Given the description of an element on the screen output the (x, y) to click on. 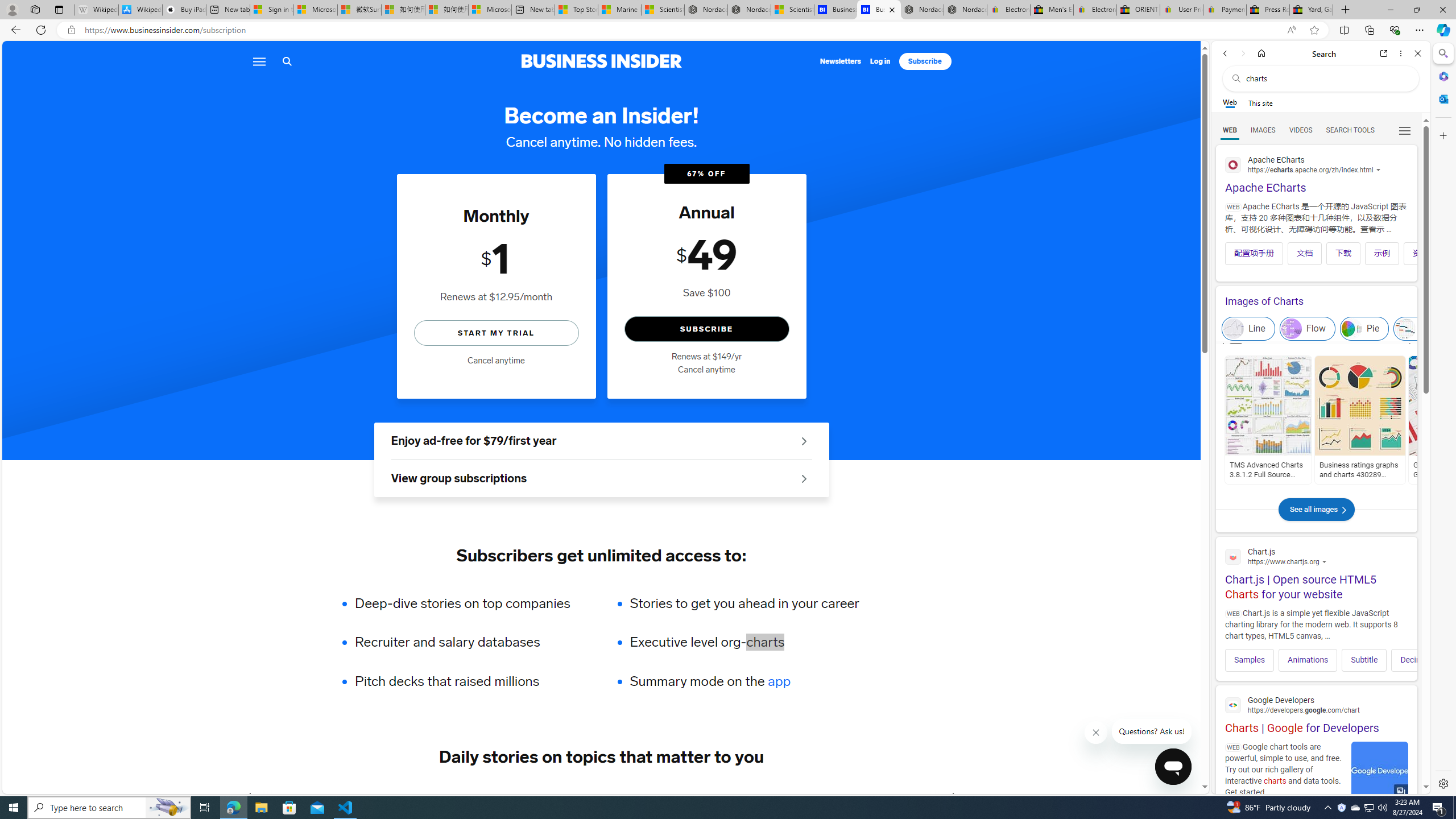
START MY TRIAL (496, 332)
Preferences (1403, 129)
Stories to get you ahead in your career (743, 602)
EXECUTIVE LIFESTYLE (788, 796)
Open link in new tab (1383, 53)
Google Developers (1315, 704)
Class: sc-1k07fow-1 cbnSms (1173, 766)
PERSONAL FINANCE (577, 796)
Sign in to your Microsoft account (271, 9)
Chart.js | Open source HTML5 Charts for your website (1315, 572)
